Given the description of an element on the screen output the (x, y) to click on. 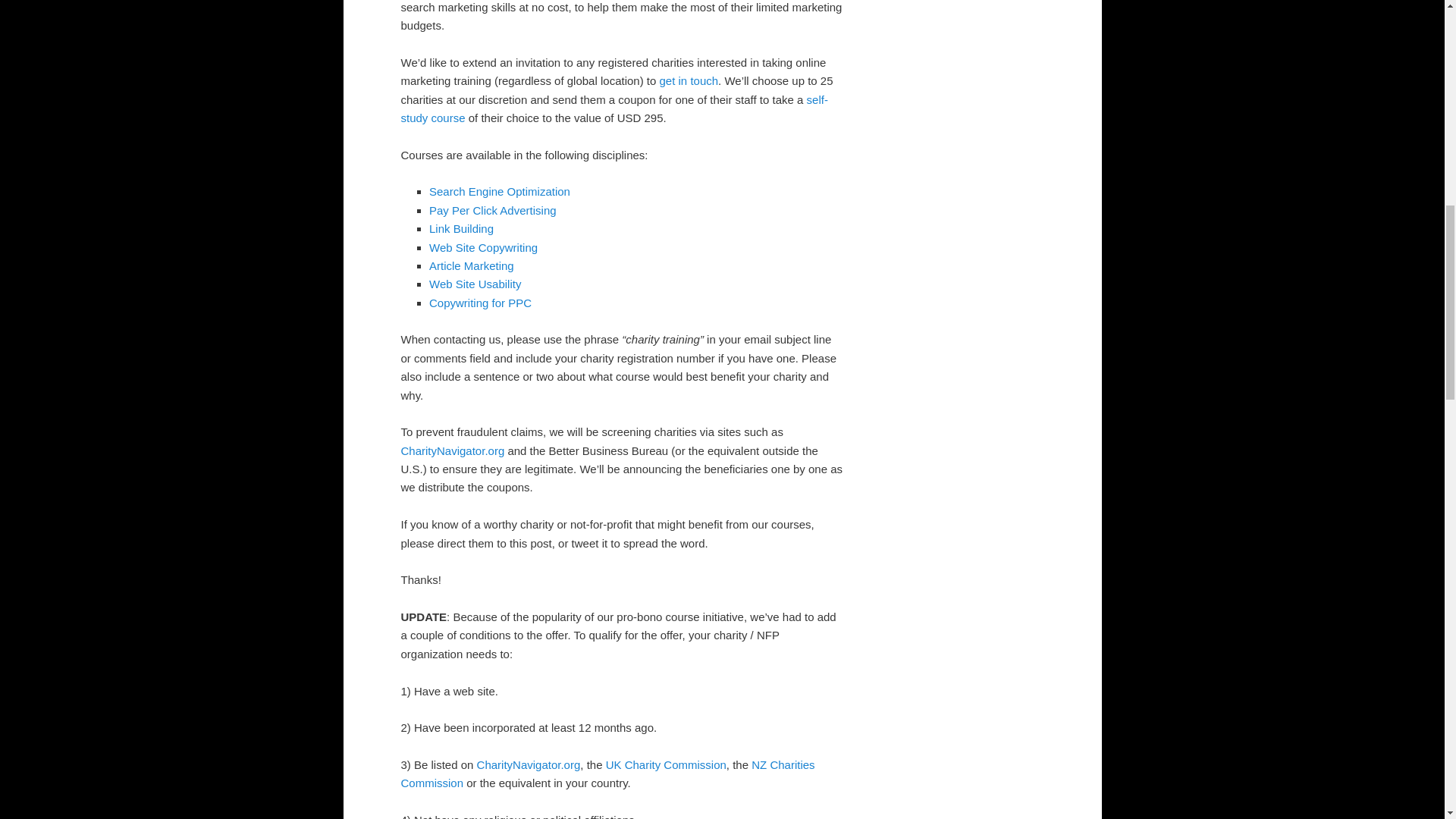
Copywriting for PPC course (480, 302)
Search Engine Optimization (499, 191)
Pay Per Click Advertising (492, 210)
Link Building (461, 228)
Charity Navigator (451, 450)
Article Marketing (471, 265)
Article Marketing course (471, 265)
UK Charity Commission (665, 764)
NZ Charities Commission (606, 773)
Copywriting for PPC (480, 302)
Charity Navigator (528, 764)
web site copywriting courses (483, 246)
SEO courses (499, 191)
Link building courses (461, 228)
Web Site Copywriting (483, 246)
